Given the description of an element on the screen output the (x, y) to click on. 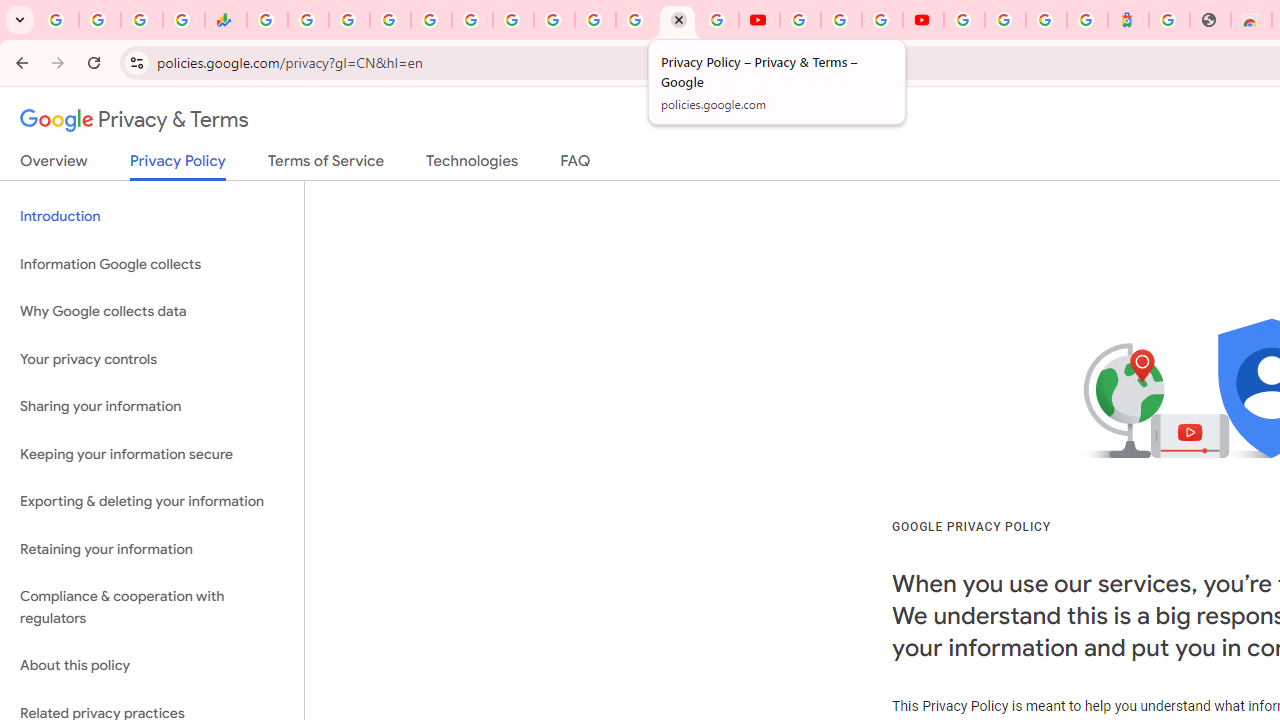
Create your Google Account (881, 20)
Sign in - Google Accounts (594, 20)
Sign in - Google Accounts (389, 20)
FAQ (575, 165)
